Given the description of an element on the screen output the (x, y) to click on. 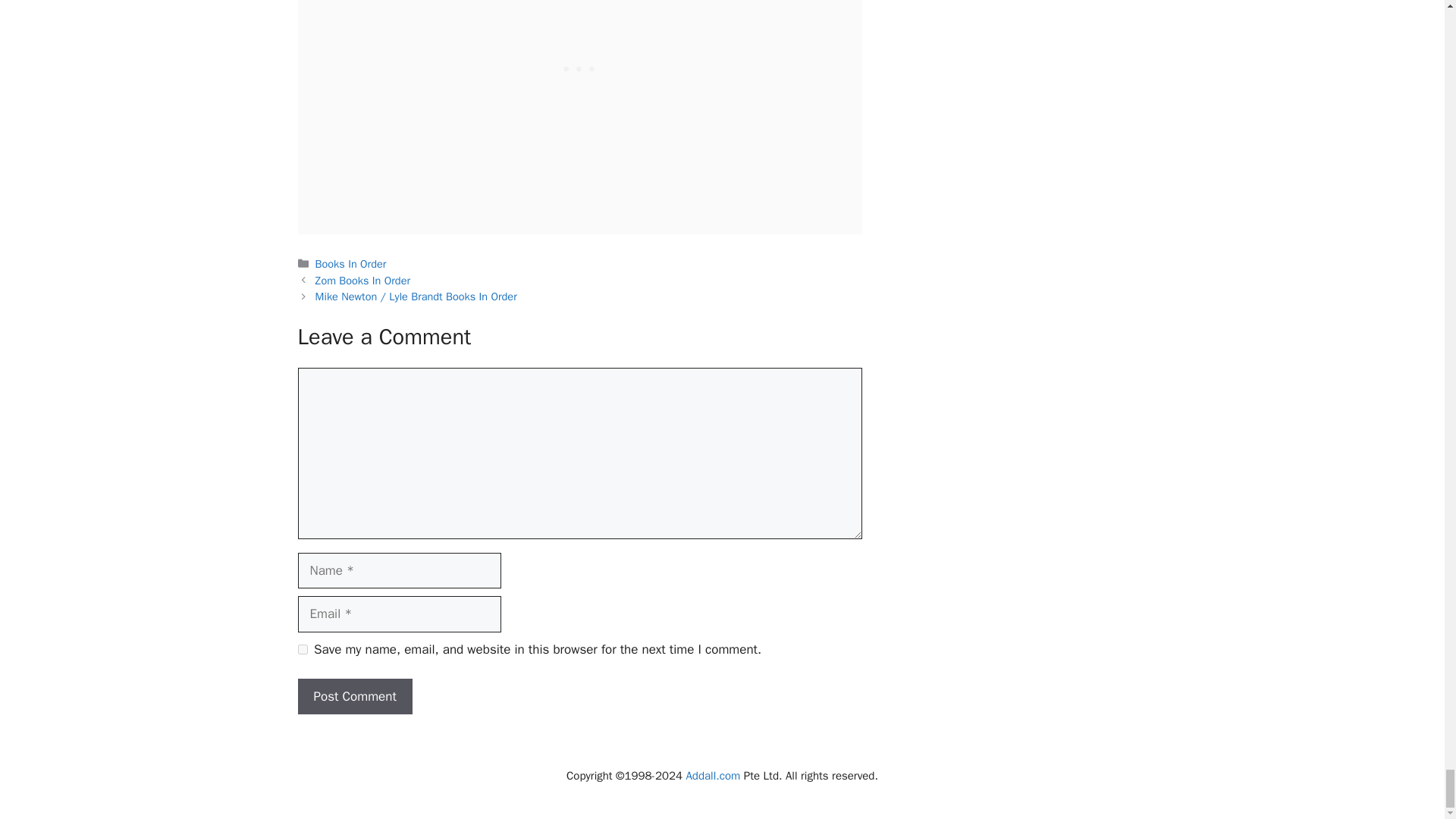
yes (302, 649)
Post Comment (354, 696)
